Given the description of an element on the screen output the (x, y) to click on. 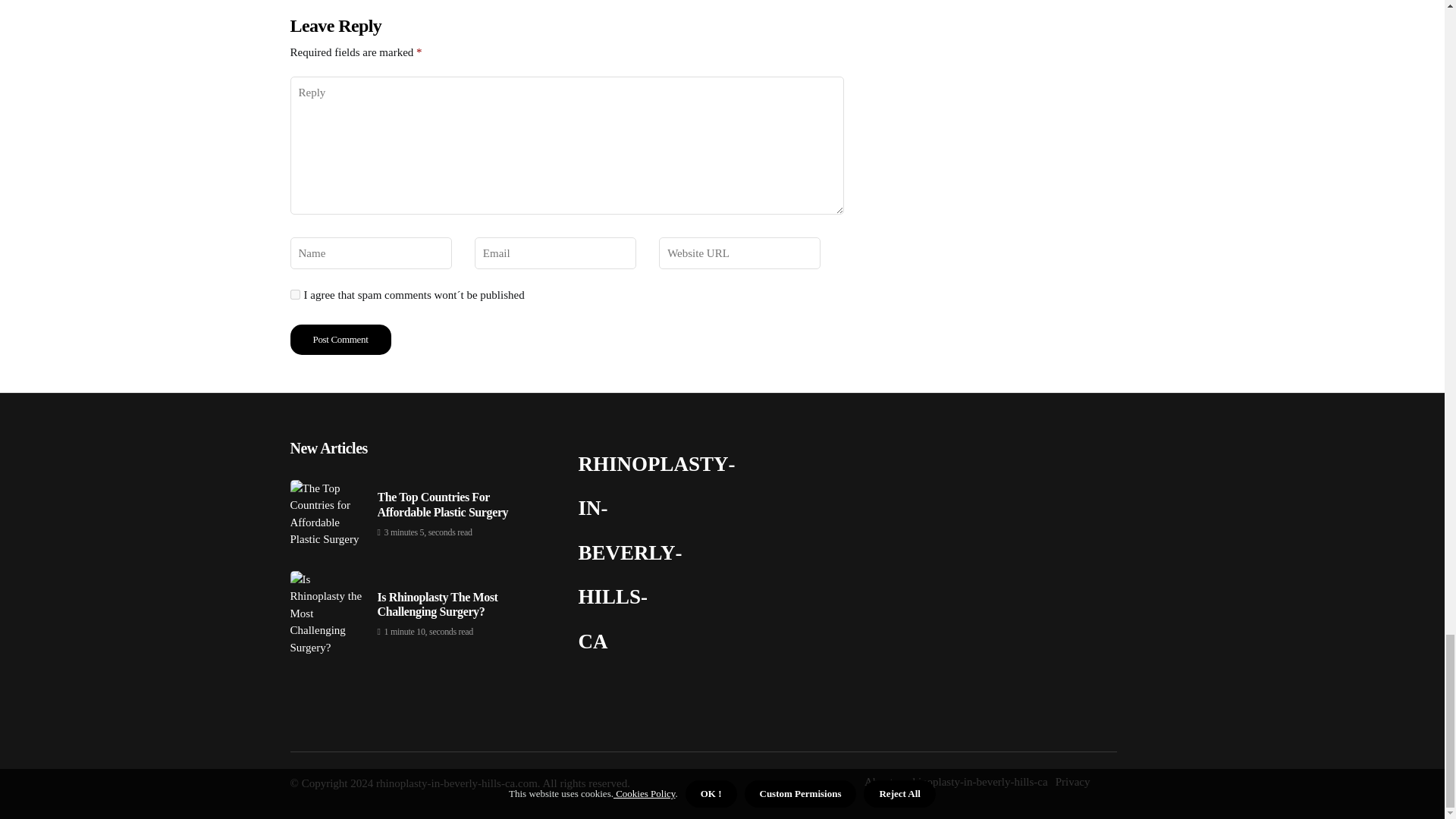
Post Comment (339, 339)
yes (294, 294)
Post Comment (339, 339)
